Given the description of an element on the screen output the (x, y) to click on. 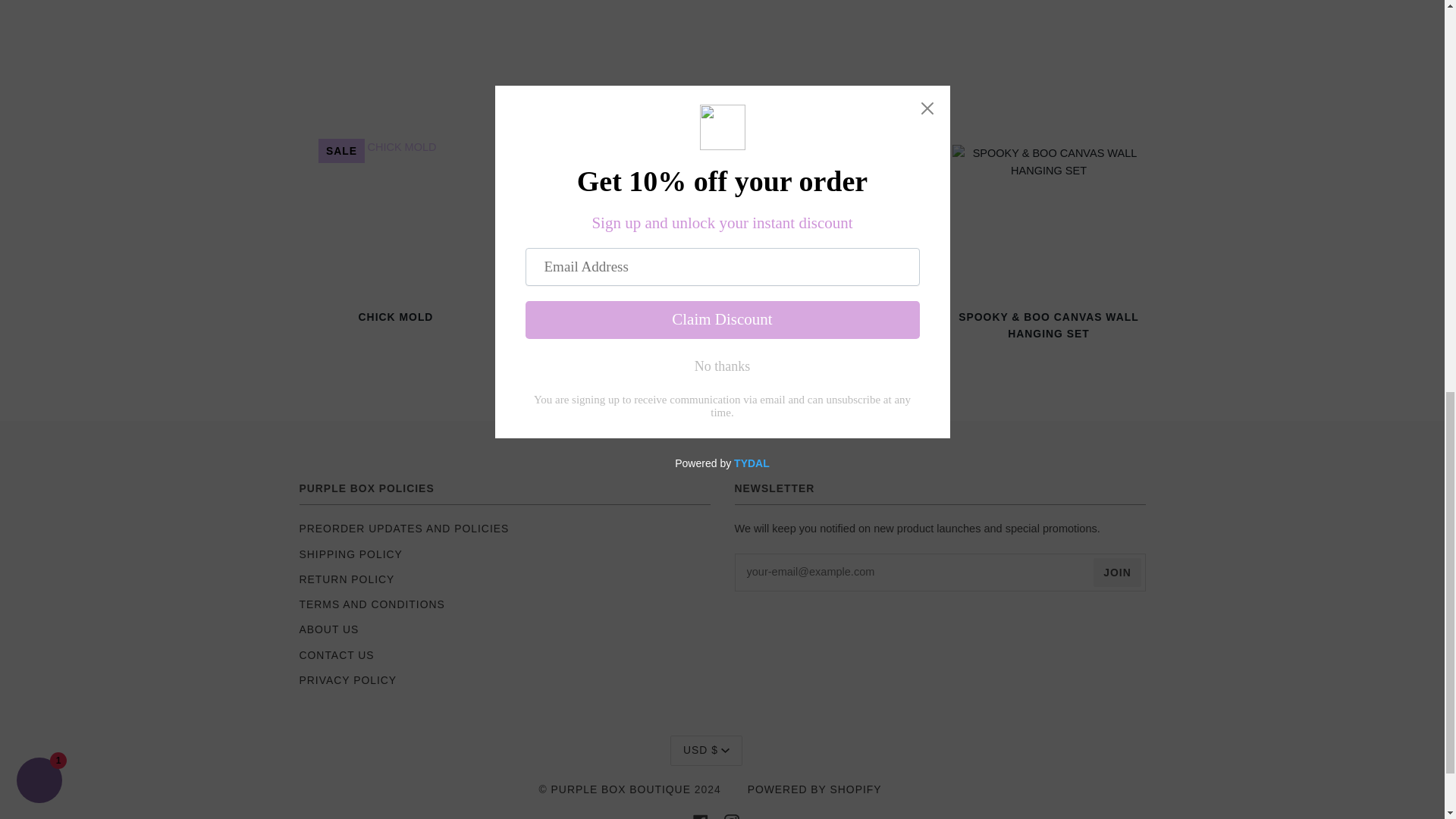
SALE (395, 215)
BLACK TEXTURED KNOT CEMENT VASE (613, 335)
Instagram (731, 816)
CHICK MOLD (395, 326)
Facebook (700, 816)
